Given the description of an element on the screen output the (x, y) to click on. 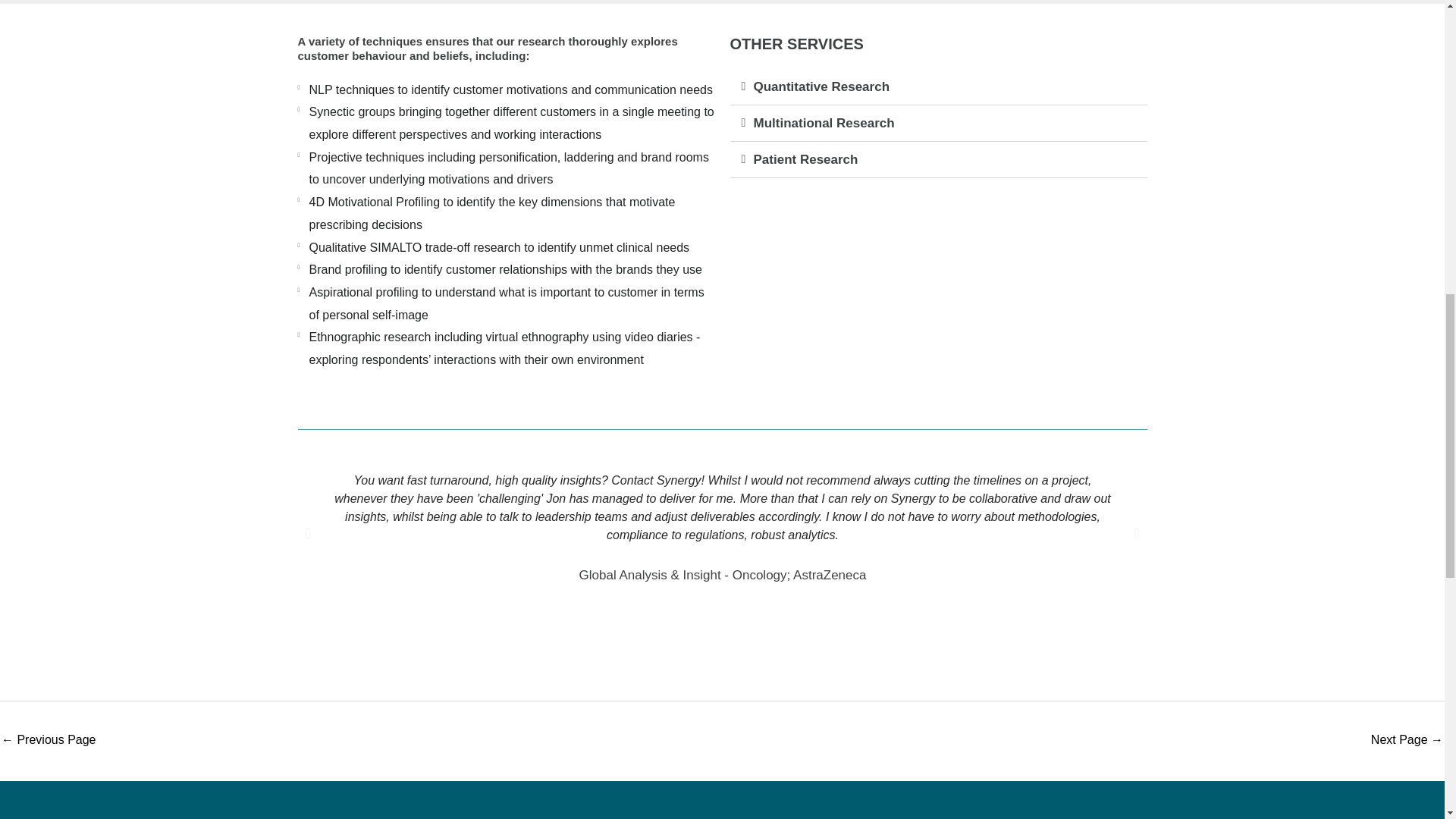
Quantitative Research (821, 86)
Quantitative Research (1406, 740)
Meet The Team (48, 740)
Multinational Research (824, 123)
Patient Research (806, 159)
